Given the description of an element on the screen output the (x, y) to click on. 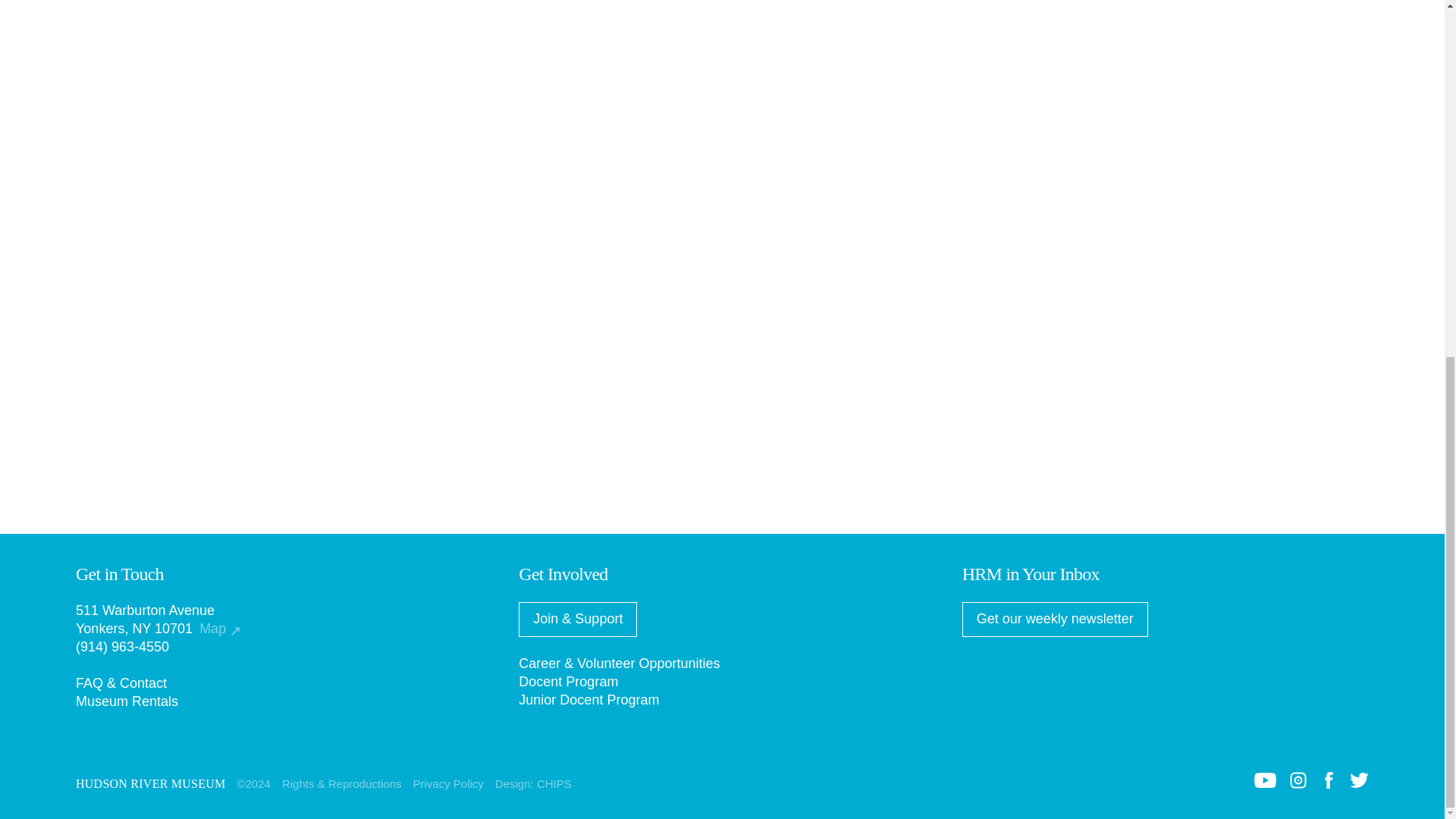
Link to Twitter HRM profile (1358, 783)
Link to YouTube HRM profile (1264, 783)
Link to Instagram HRM profile (1298, 784)
